Given the description of an element on the screen output the (x, y) to click on. 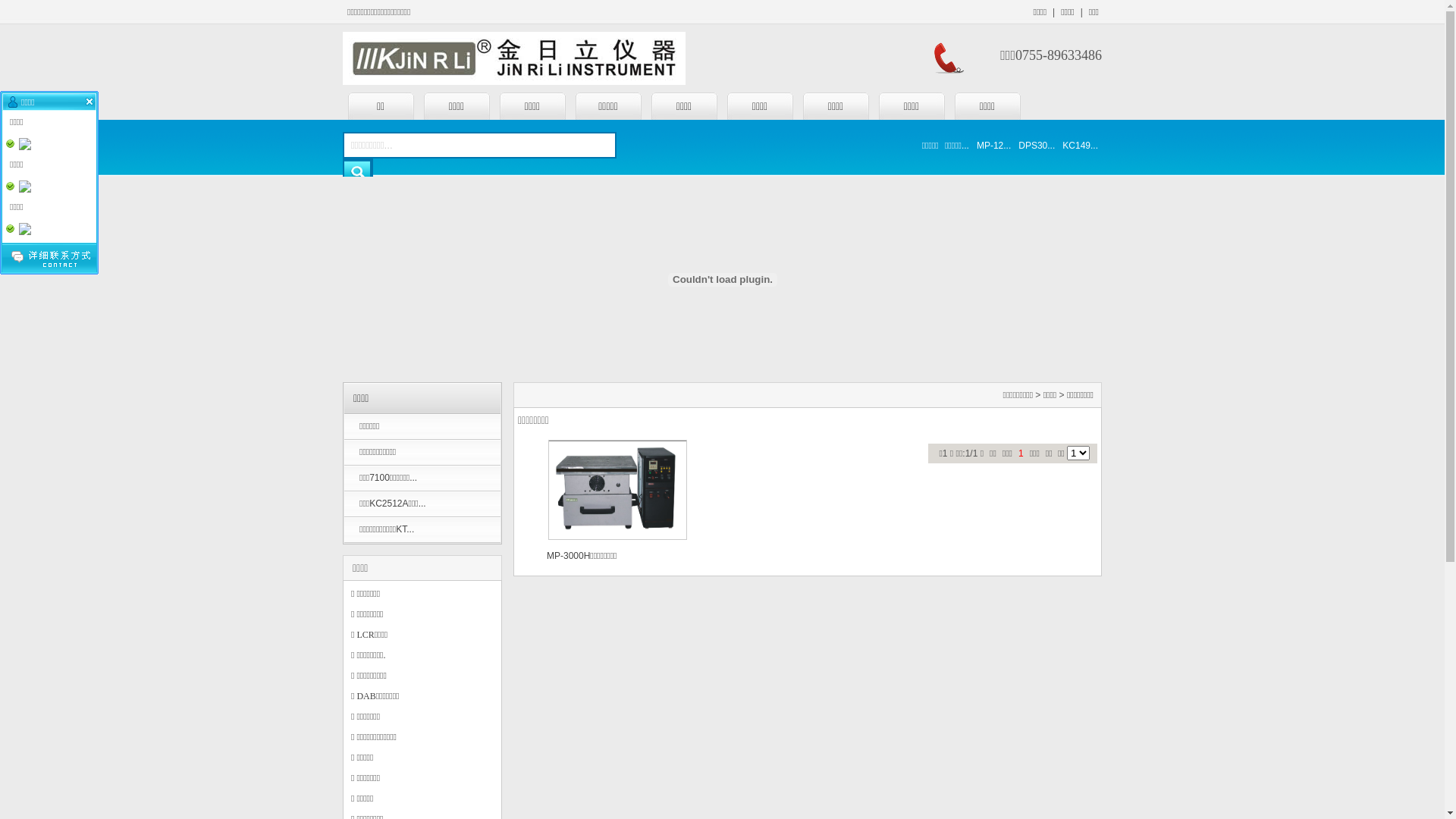
KC149... Element type: text (1080, 145)
DPS30... Element type: text (1036, 145)
MP-12... Element type: text (993, 145)
